Given the description of an element on the screen output the (x, y) to click on. 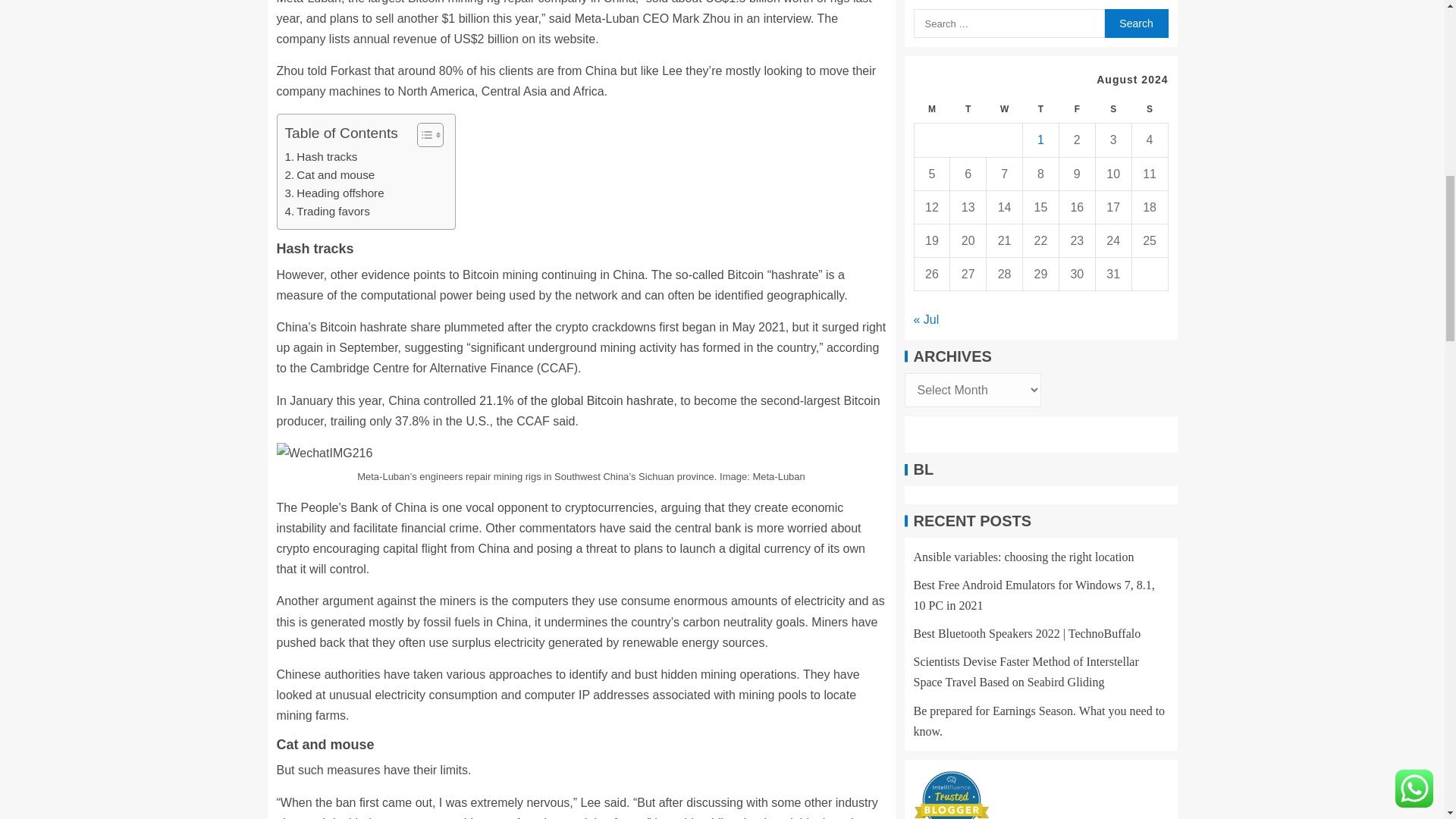
Heading offshore (334, 193)
Trading favors (327, 211)
Trading favors (327, 211)
Hash tracks (321, 157)
Cat and mouse (330, 175)
Heading offshore (334, 193)
Cat and mouse (330, 175)
Hash tracks (321, 157)
